Given the description of an element on the screen output the (x, y) to click on. 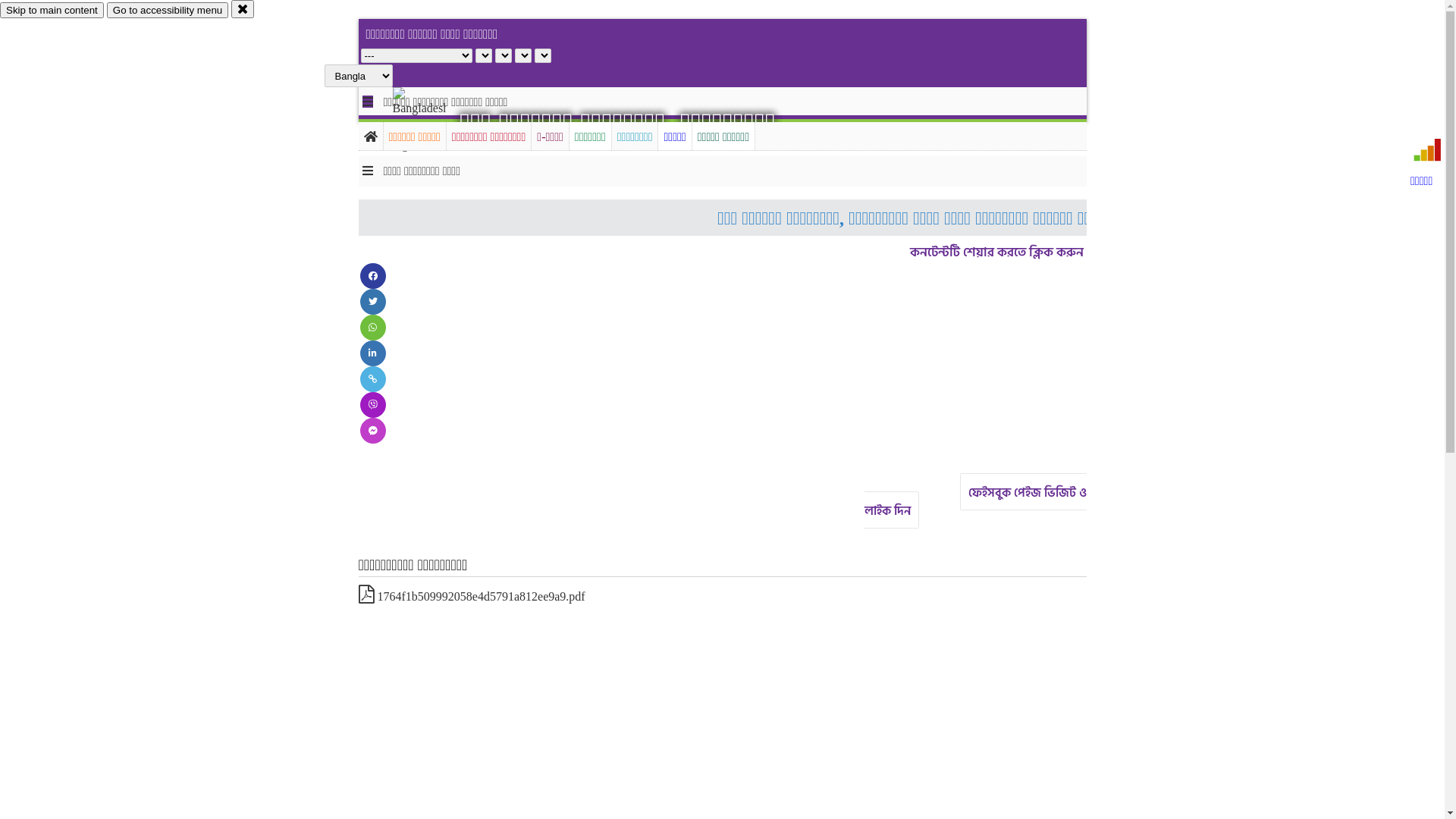

                
             Element type: hover (431, 120)
1764f1b509992058e4d5791a812ee9a9.pdf Element type: text (470, 595)
Go to accessibility menu Element type: text (167, 10)
Skip to main content Element type: text (51, 10)
close Element type: hover (242, 9)
